Given the description of an element on the screen output the (x, y) to click on. 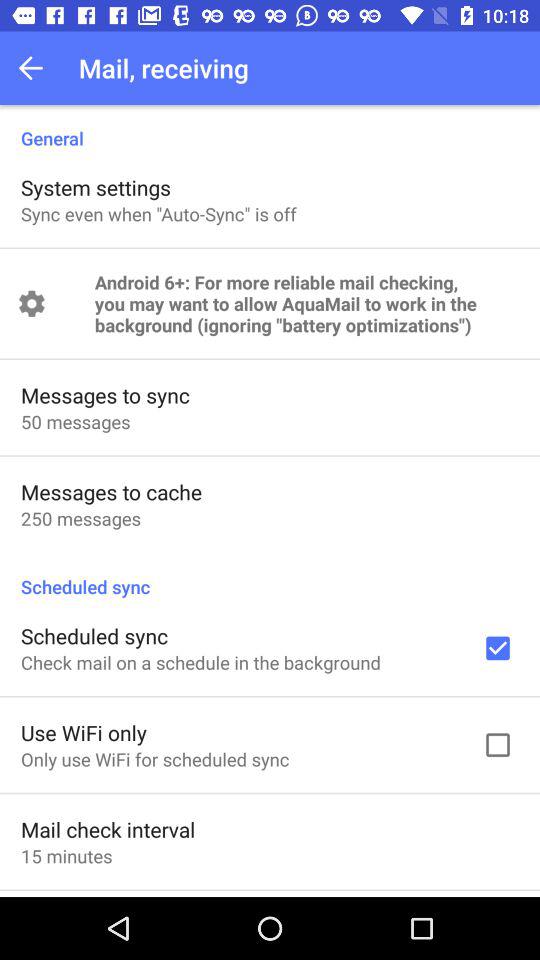
turn on 250 messages app (80, 518)
